Given the description of an element on the screen output the (x, y) to click on. 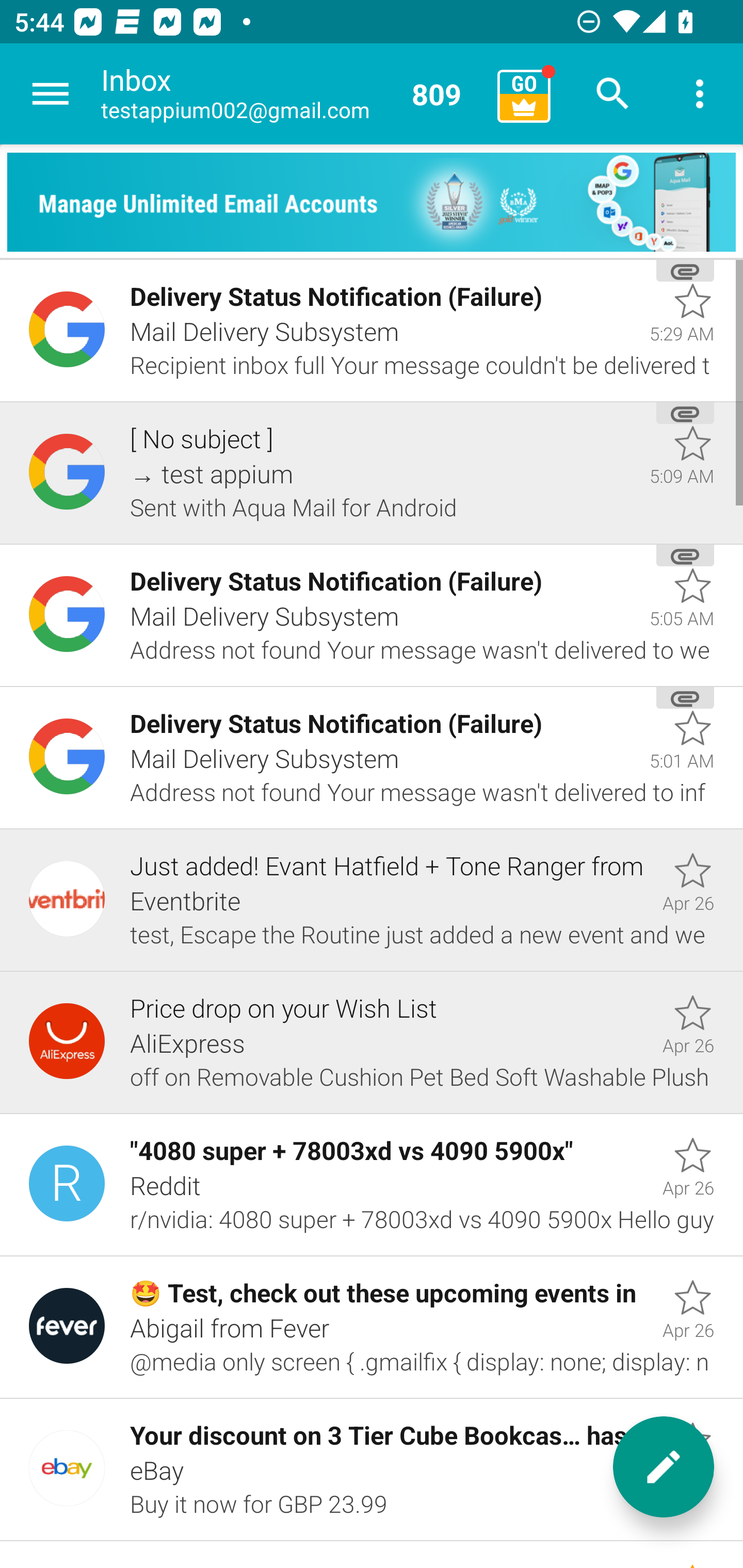
Navigate up (50, 93)
Inbox testappium002@gmail.com 809 (291, 93)
Search (612, 93)
More options (699, 93)
New message (663, 1466)
